Given the description of an element on the screen output the (x, y) to click on. 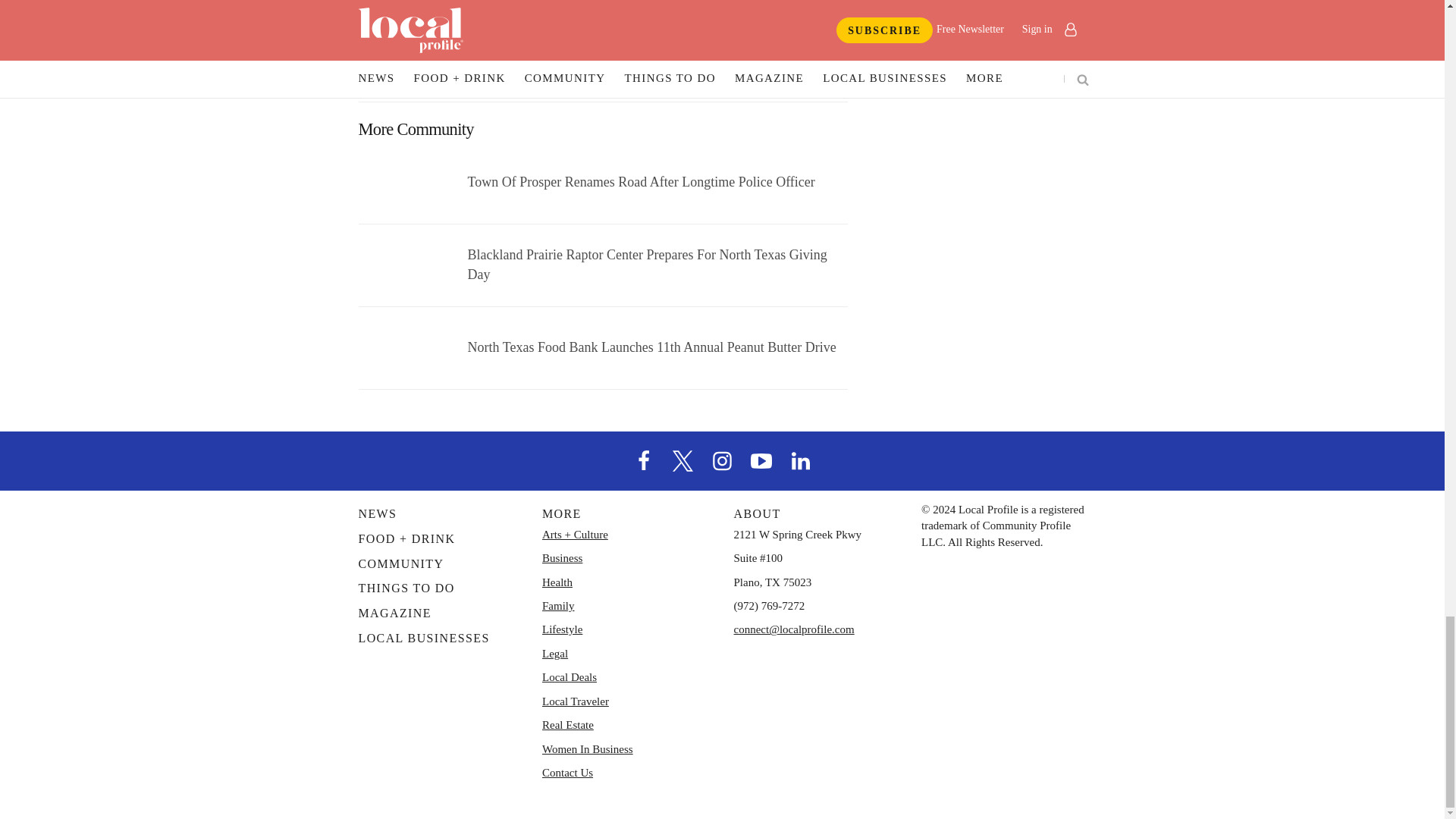
X (683, 459)
YouTube (760, 459)
Instagram (721, 459)
LinkedIn (800, 459)
Facebook (644, 459)
